Given the description of an element on the screen output the (x, y) to click on. 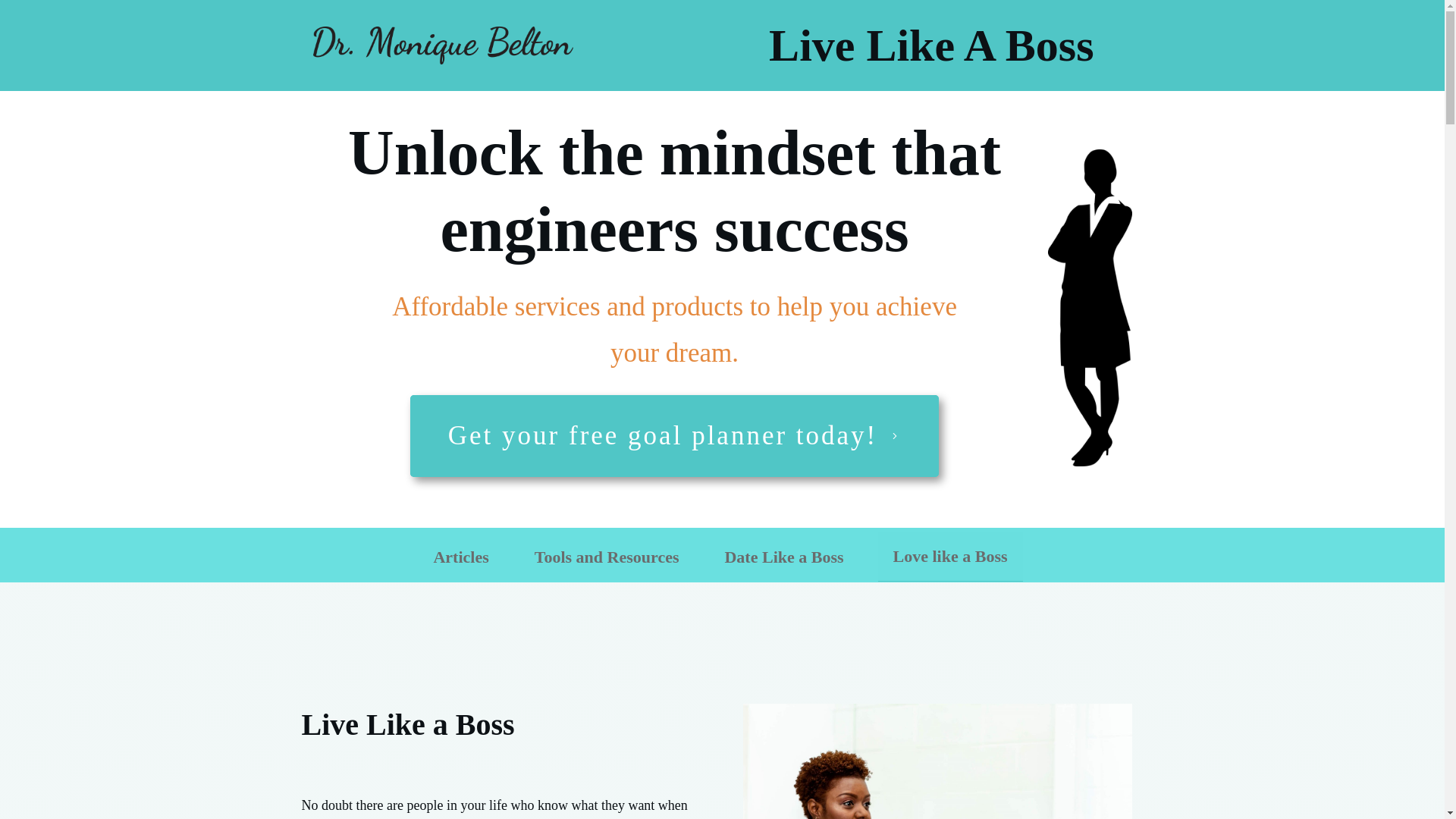
Tools and Resources (606, 556)
Get your free goal planner today! (674, 434)
Date Like a Boss (783, 556)
Articles (459, 556)
Love like a Boss (950, 556)
